Given the description of an element on the screen output the (x, y) to click on. 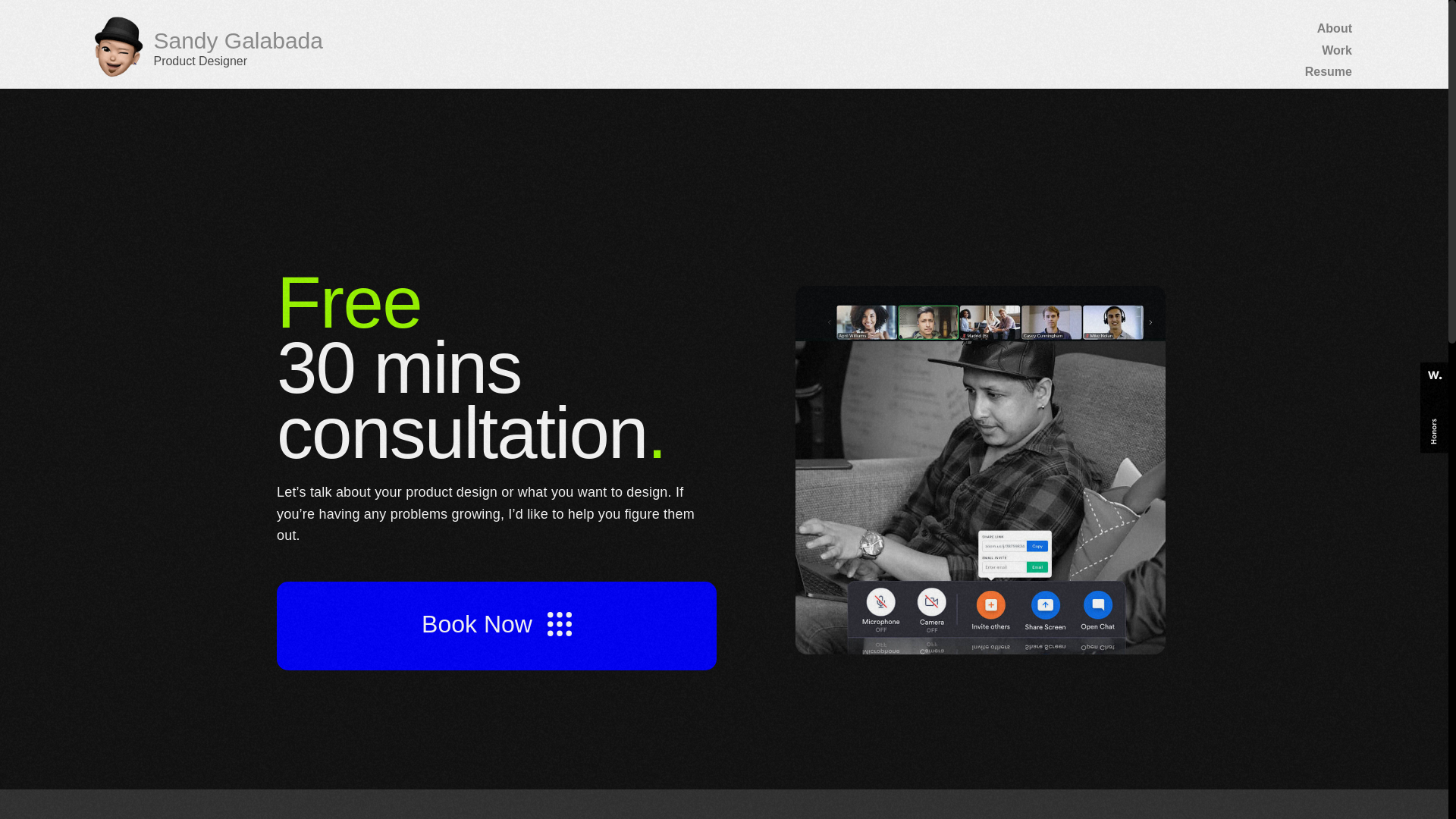
Book Now (496, 742)
Work (1284, 1)
Resume (1284, 19)
